Given the description of an element on the screen output the (x, y) to click on. 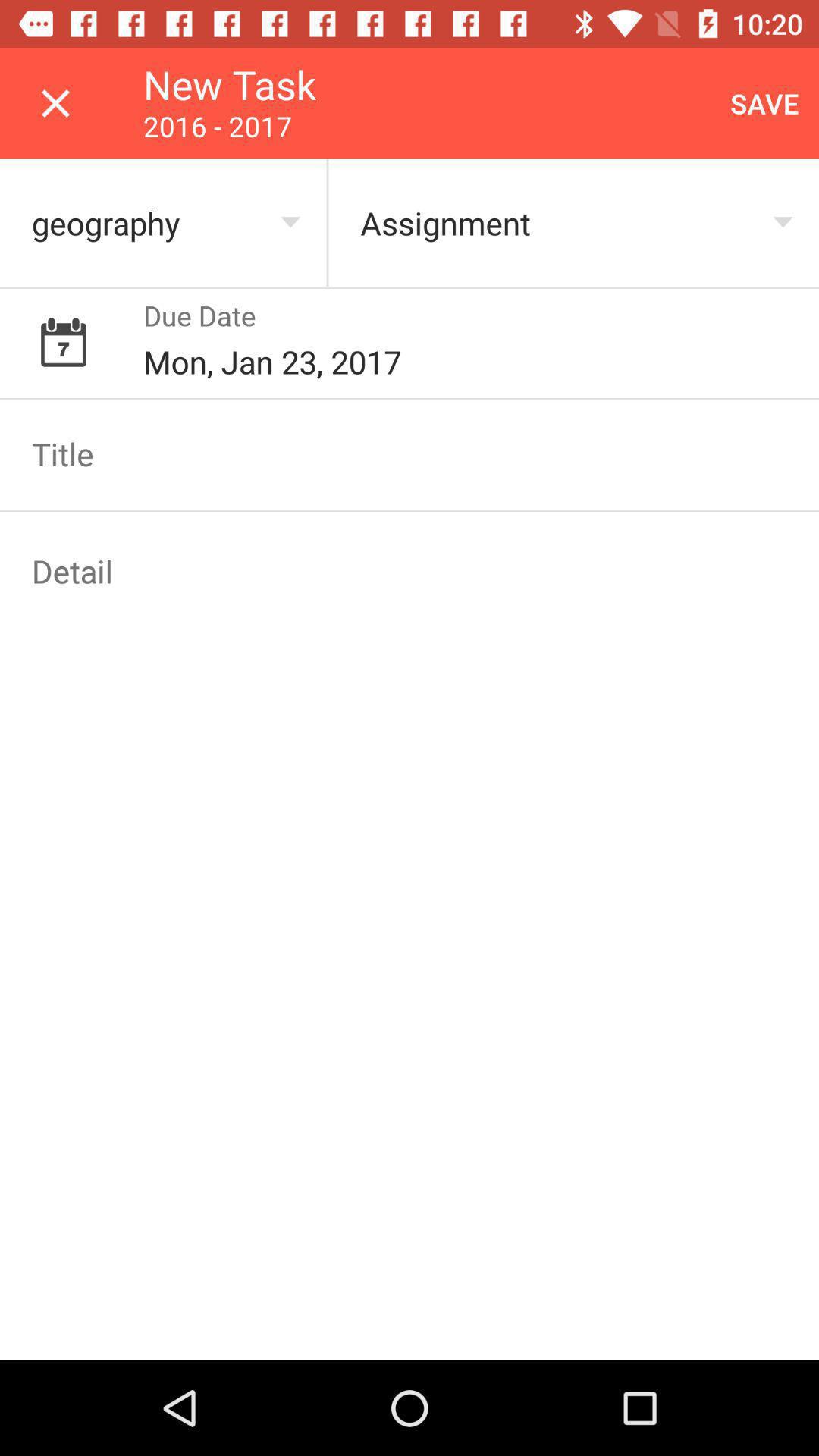
text page (409, 453)
